Given the description of an element on the screen output the (x, y) to click on. 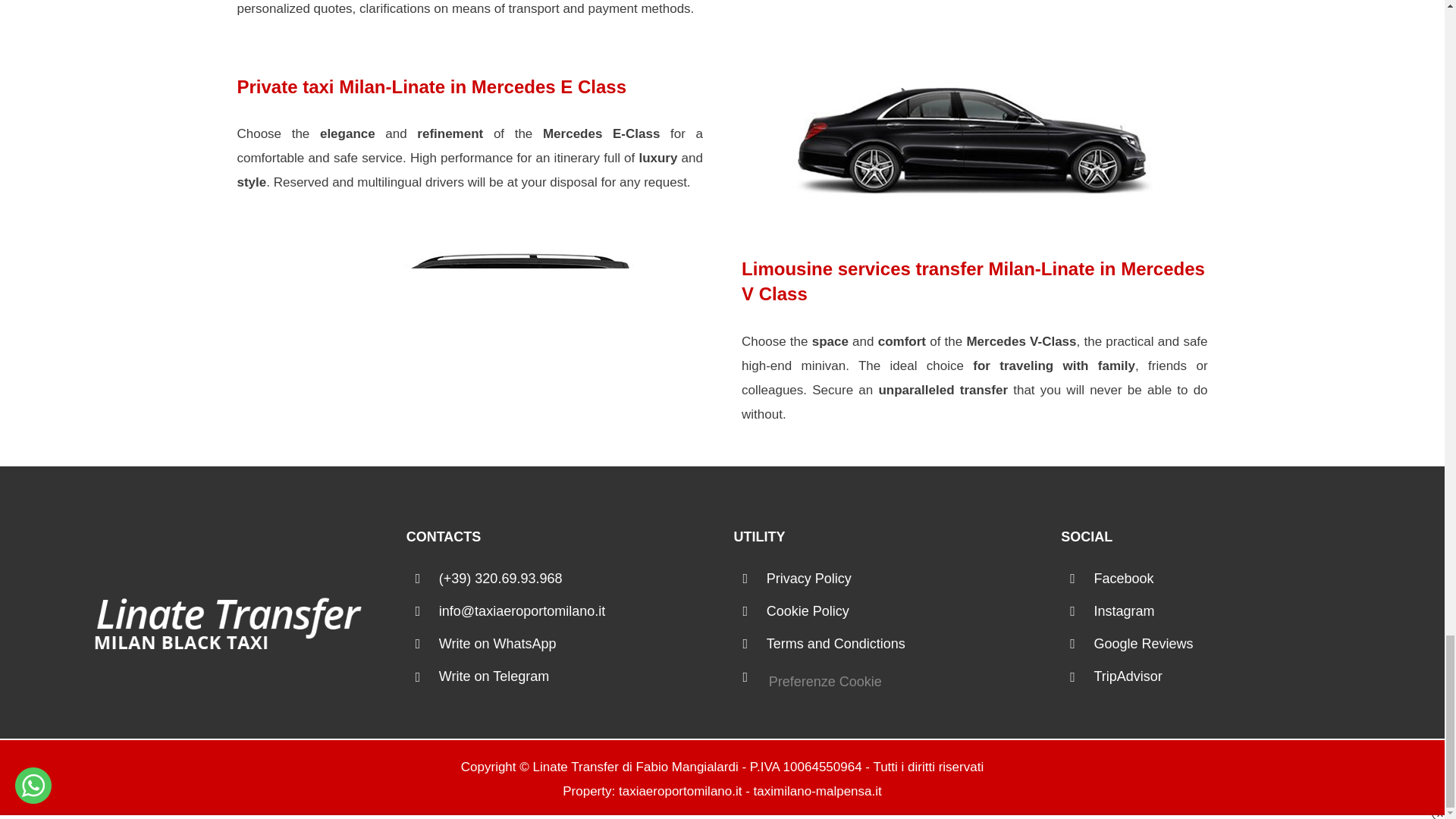
Taxi Privato Milano Minivan (470, 316)
Taxi Privato Milano Berlina (974, 134)
Telegram (575, 676)
Privacy Policy (903, 578)
E-mail (575, 611)
WhatsApp (575, 644)
Telefono (575, 578)
